Given the description of an element on the screen output the (x, y) to click on. 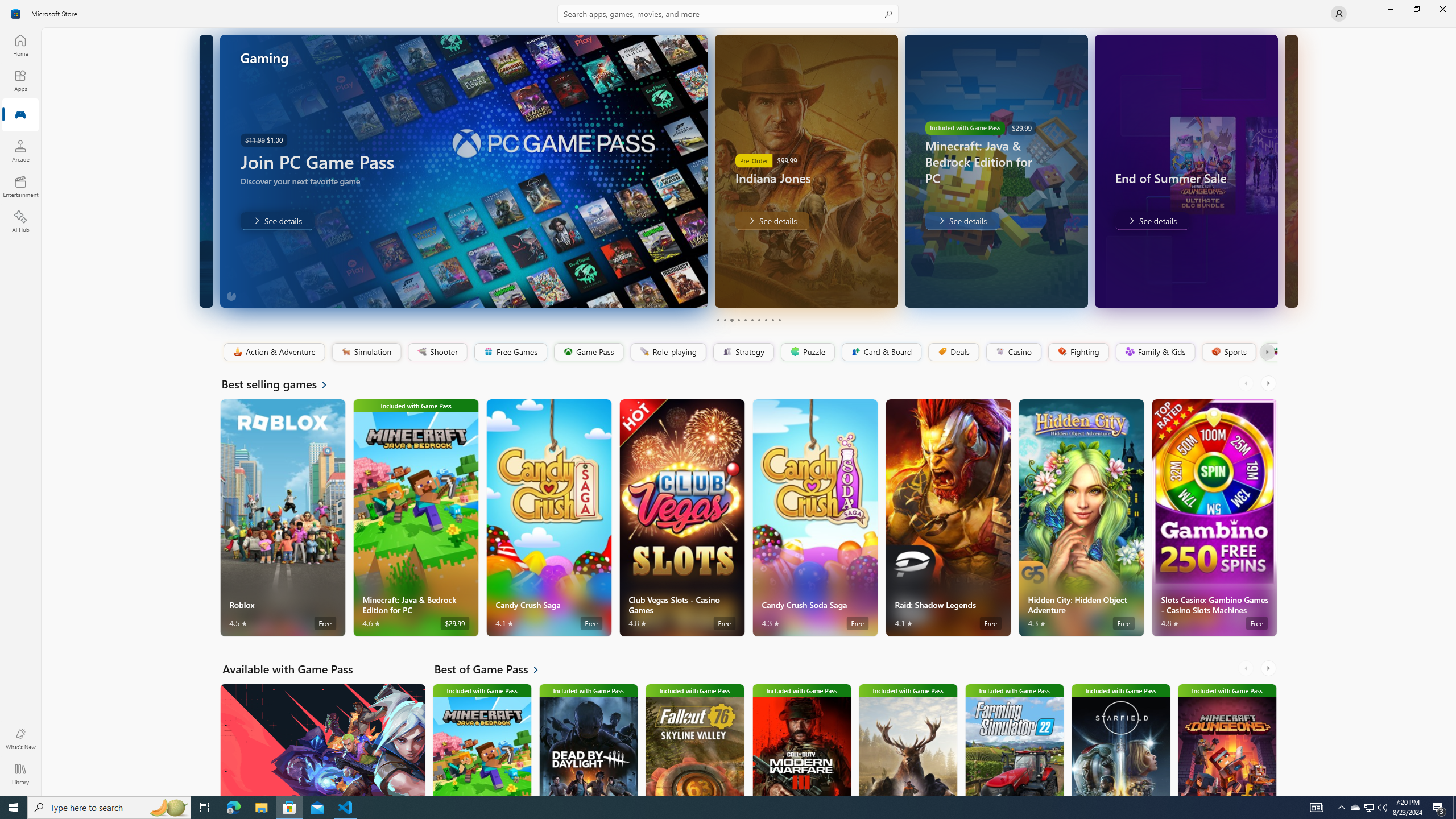
Class: Image (1274, 351)
Action & Adventure (273, 352)
Search (727, 13)
Roblox. Average rating of 4.5 out of five stars. Free   (282, 517)
Deals (952, 352)
Close Microsoft Store (1442, 9)
Page 10 (779, 319)
Fighting (1078, 352)
Shooter (436, 352)
Family & Kids (1154, 352)
See all  Best selling games (280, 383)
